Given the description of an element on the screen output the (x, y) to click on. 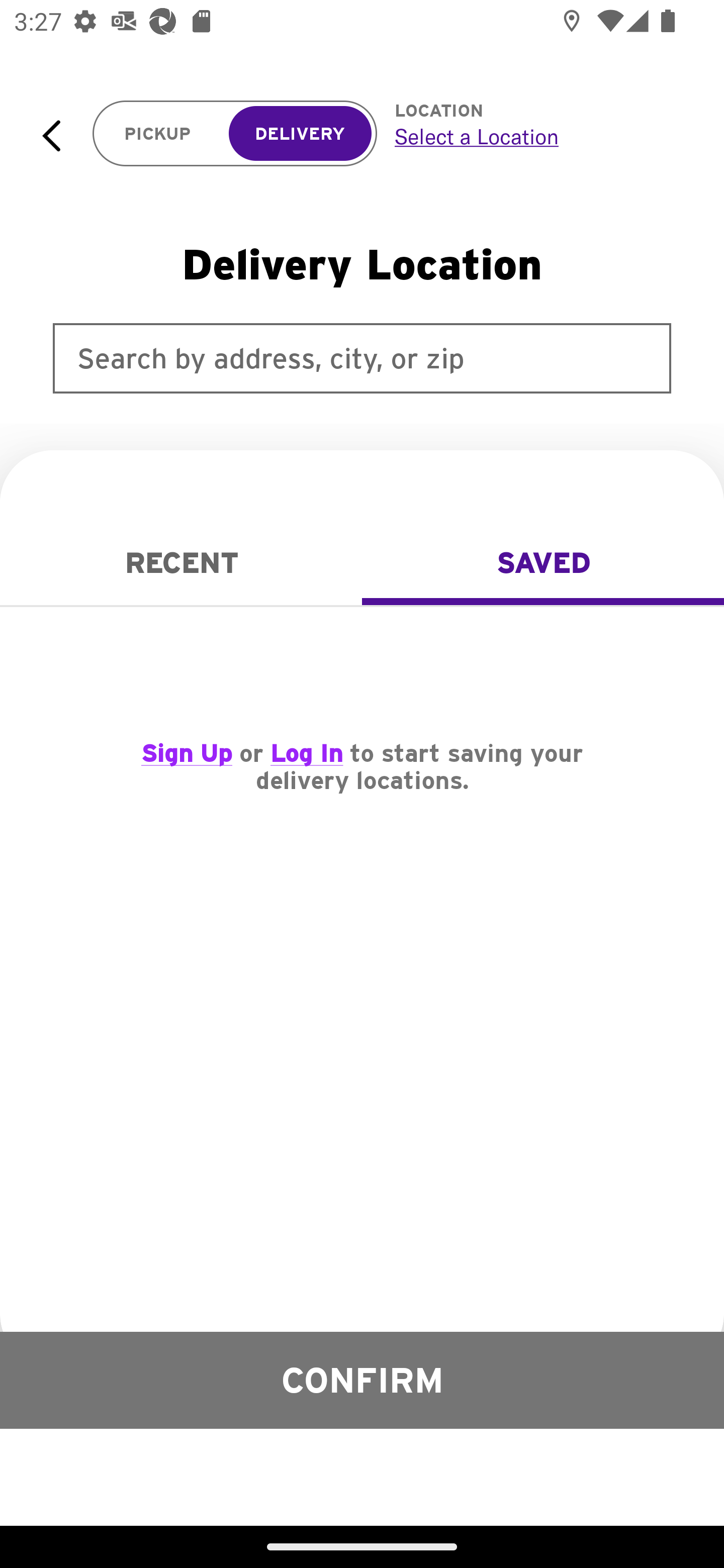
PICKUP (157, 133)
DELIVERY (299, 133)
Select a Location (536, 136)
Search by address, city, or zip (361, 358)
Recent RECENT (181, 562)
CONFIRM (362, 1379)
